Given the description of an element on the screen output the (x, y) to click on. 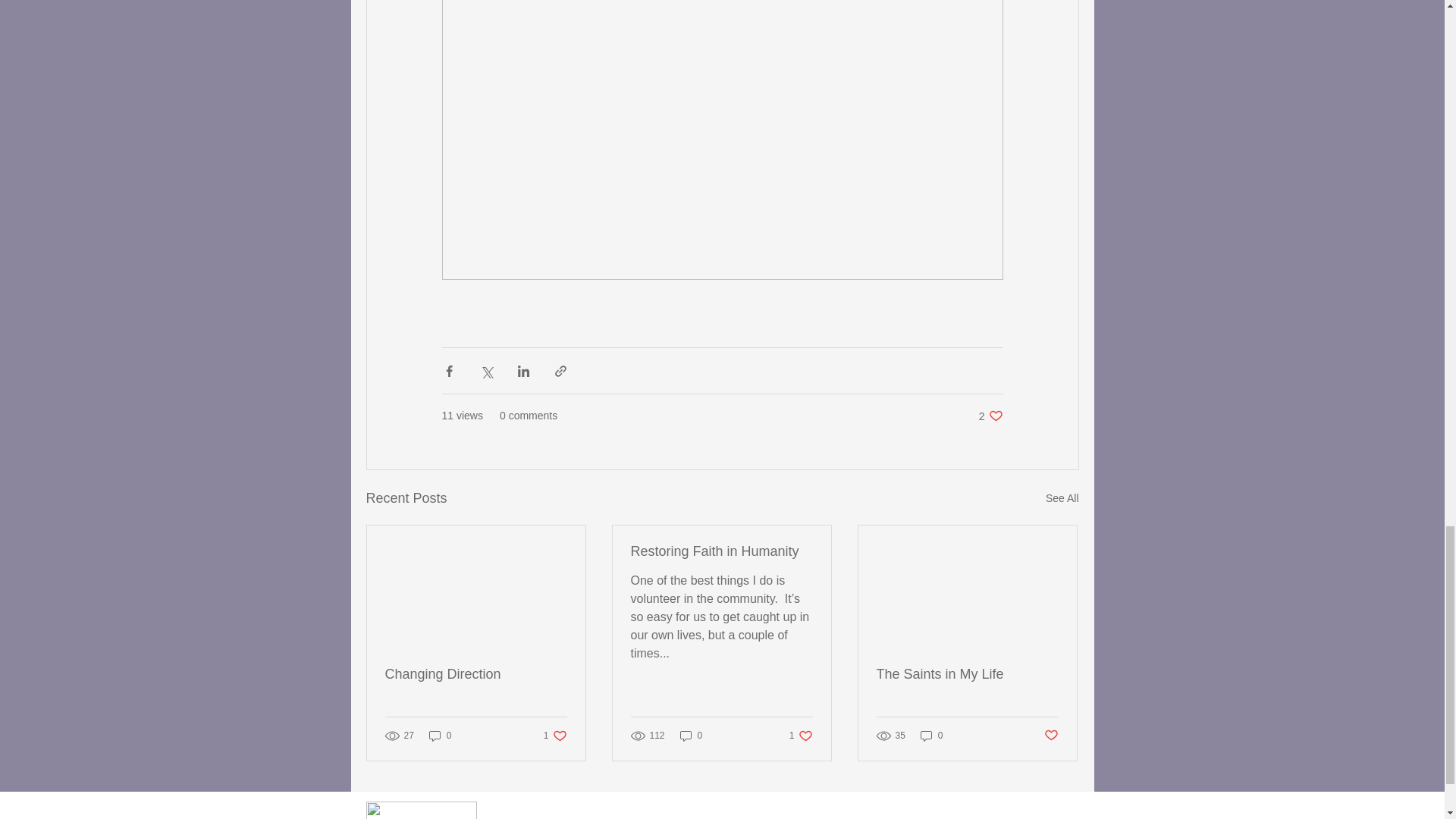
The Saints in My Life (967, 674)
Post not marked as liked (800, 735)
0 (1050, 735)
Changing Direction (931, 735)
Restoring Faith in Humanity (476, 674)
0 (990, 415)
0 (721, 551)
